Given the description of an element on the screen output the (x, y) to click on. 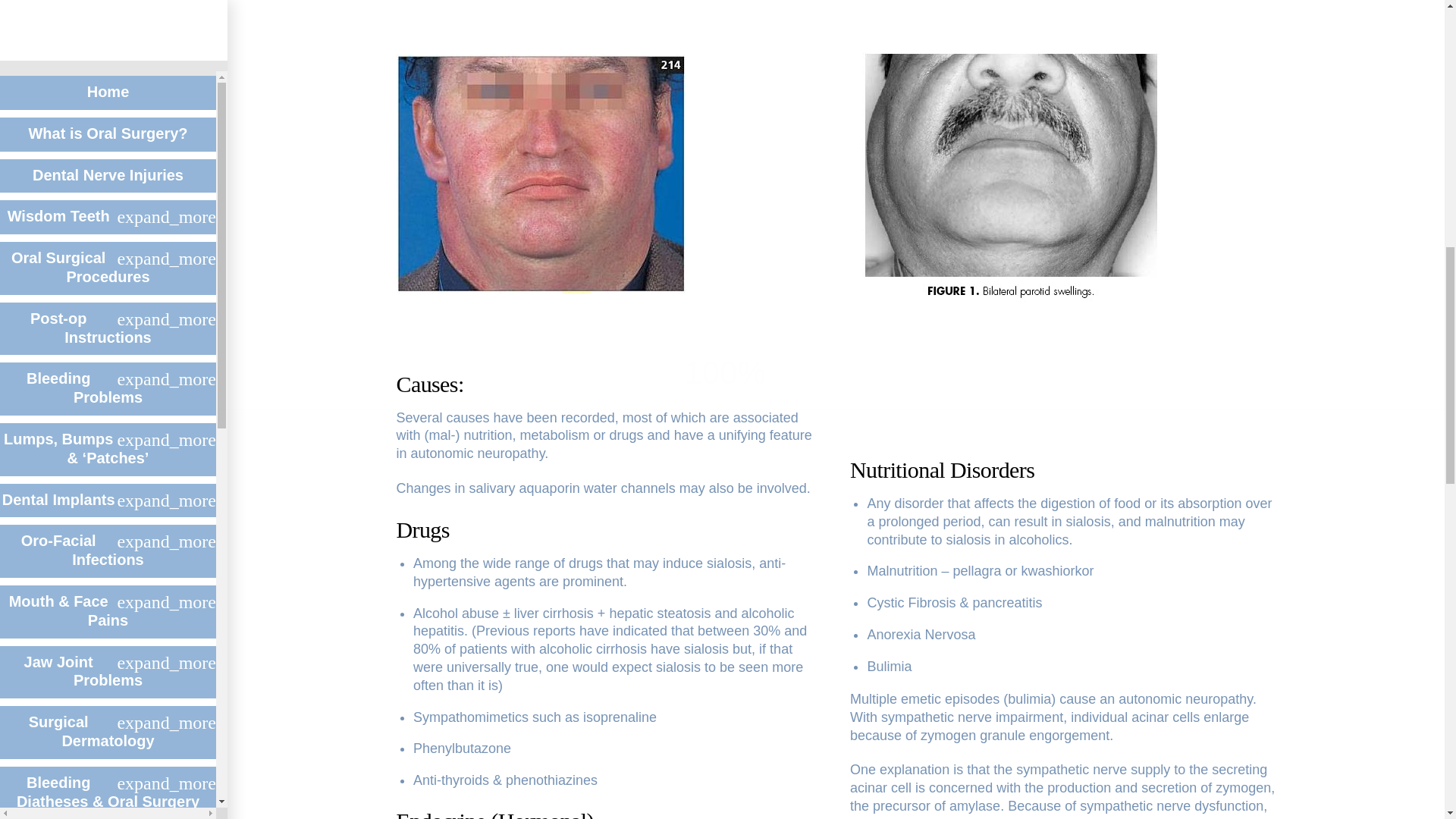
Sialosis1-1 (540, 173)
